Given the description of an element on the screen output the (x, y) to click on. 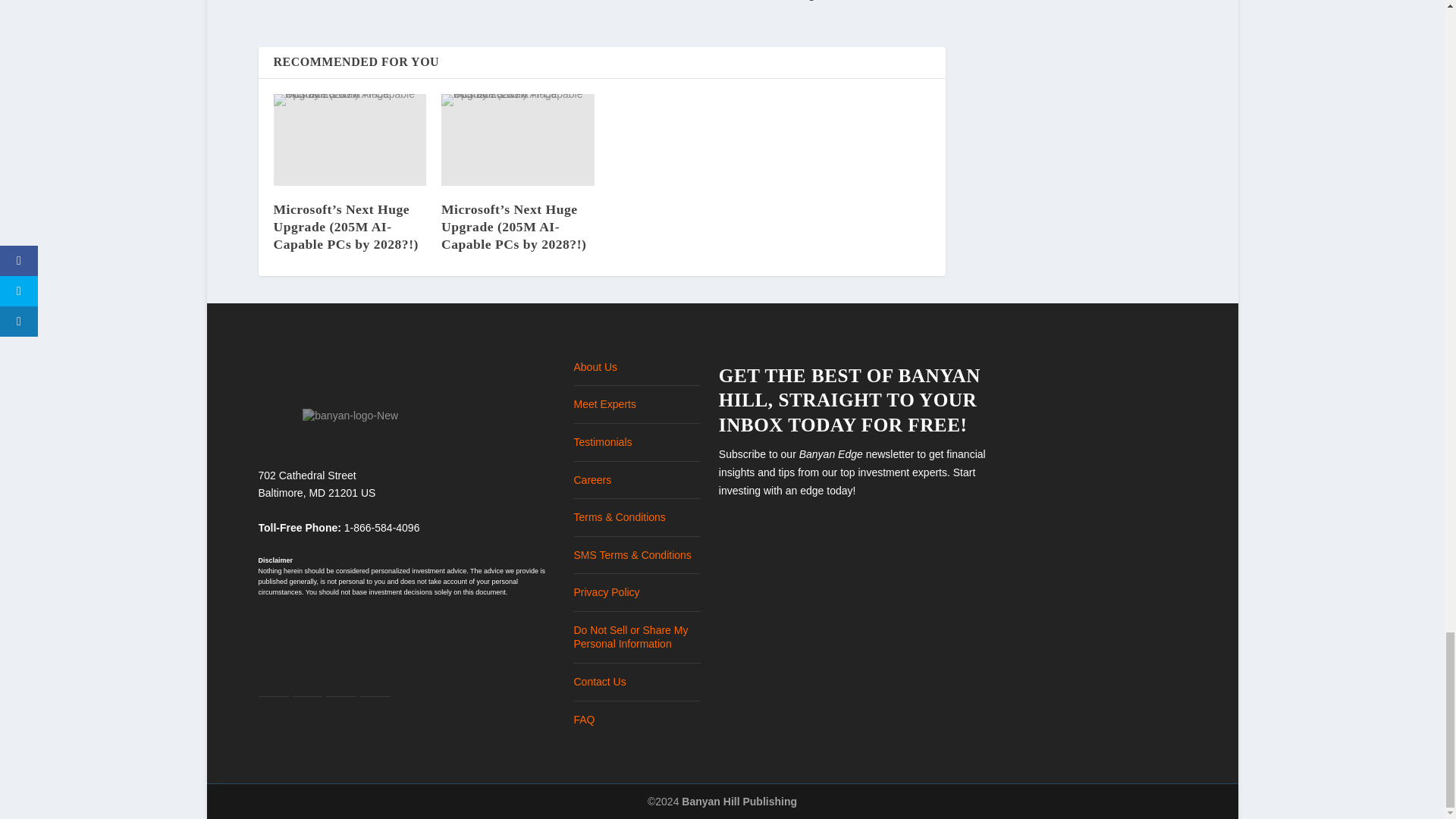
About Us (595, 367)
1-866-584-4096 (381, 527)
Testimonials (602, 441)
Meet Experts (603, 404)
Careers (592, 480)
